Given the description of an element on the screen output the (x, y) to click on. 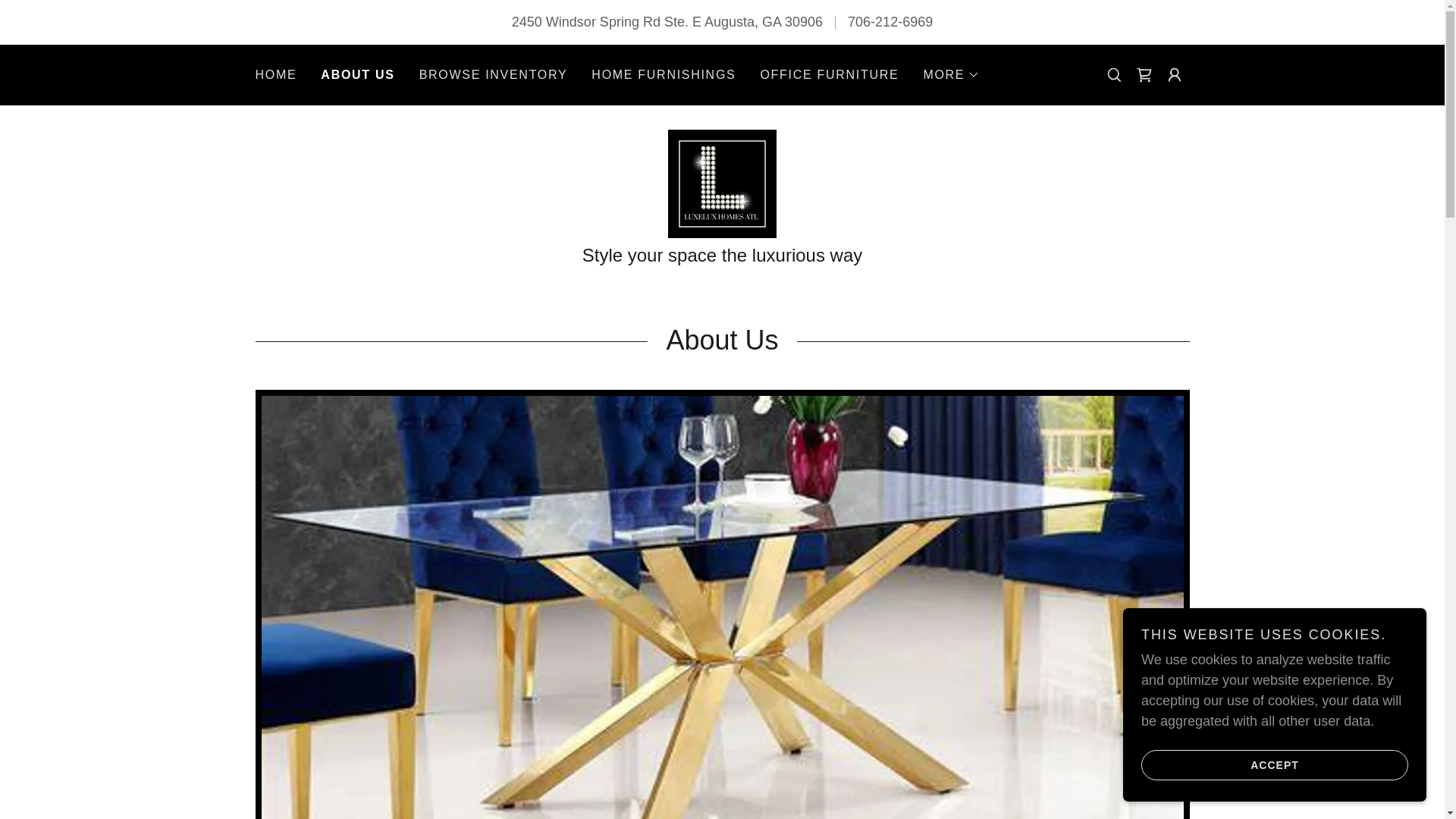
ABOUT US (357, 75)
706-212-6969 (890, 21)
HOME FURNISHINGS (662, 74)
OFFICE FURNITURE (828, 74)
Luxe Homes ATL (722, 182)
HOME (275, 74)
MORE (951, 75)
BROWSE INVENTORY (493, 74)
